Given the description of an element on the screen output the (x, y) to click on. 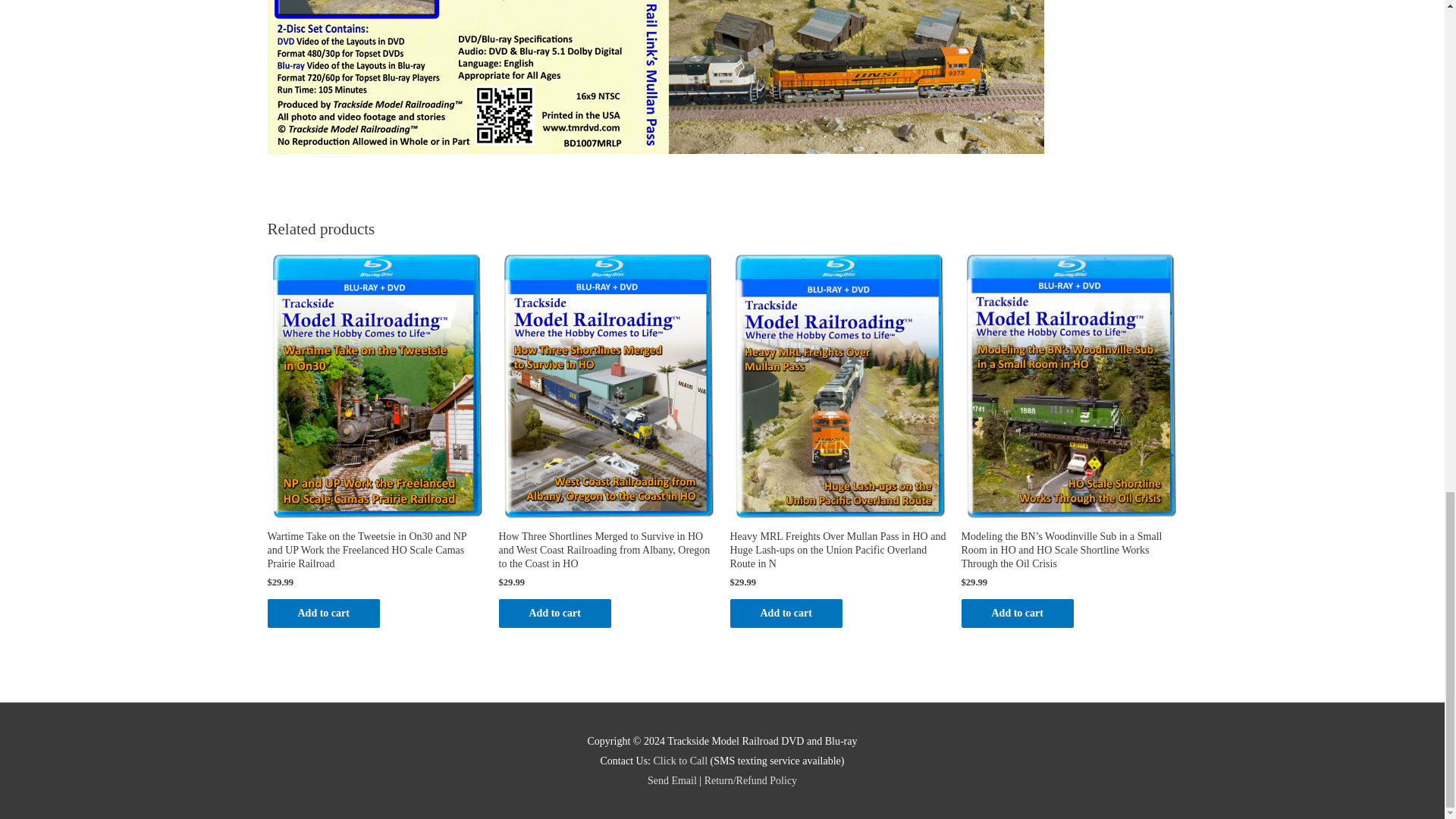
Add to cart (322, 613)
Add to cart (555, 613)
